Given the description of an element on the screen output the (x, y) to click on. 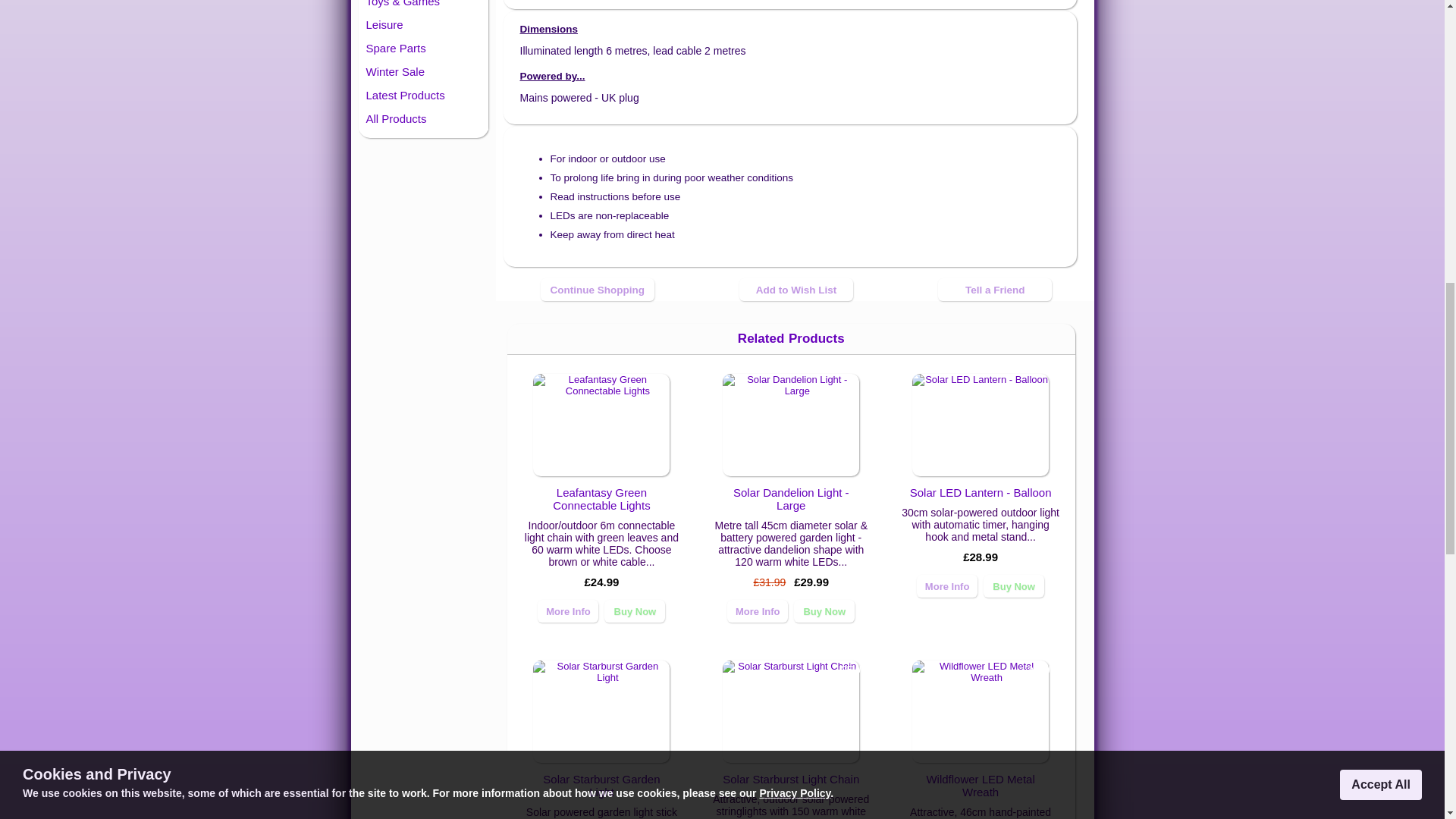
Winter Sale (422, 71)
Spare Parts (422, 47)
Leisure (422, 24)
All Products (422, 118)
Latest Products (422, 95)
